Given the description of an element on the screen output the (x, y) to click on. 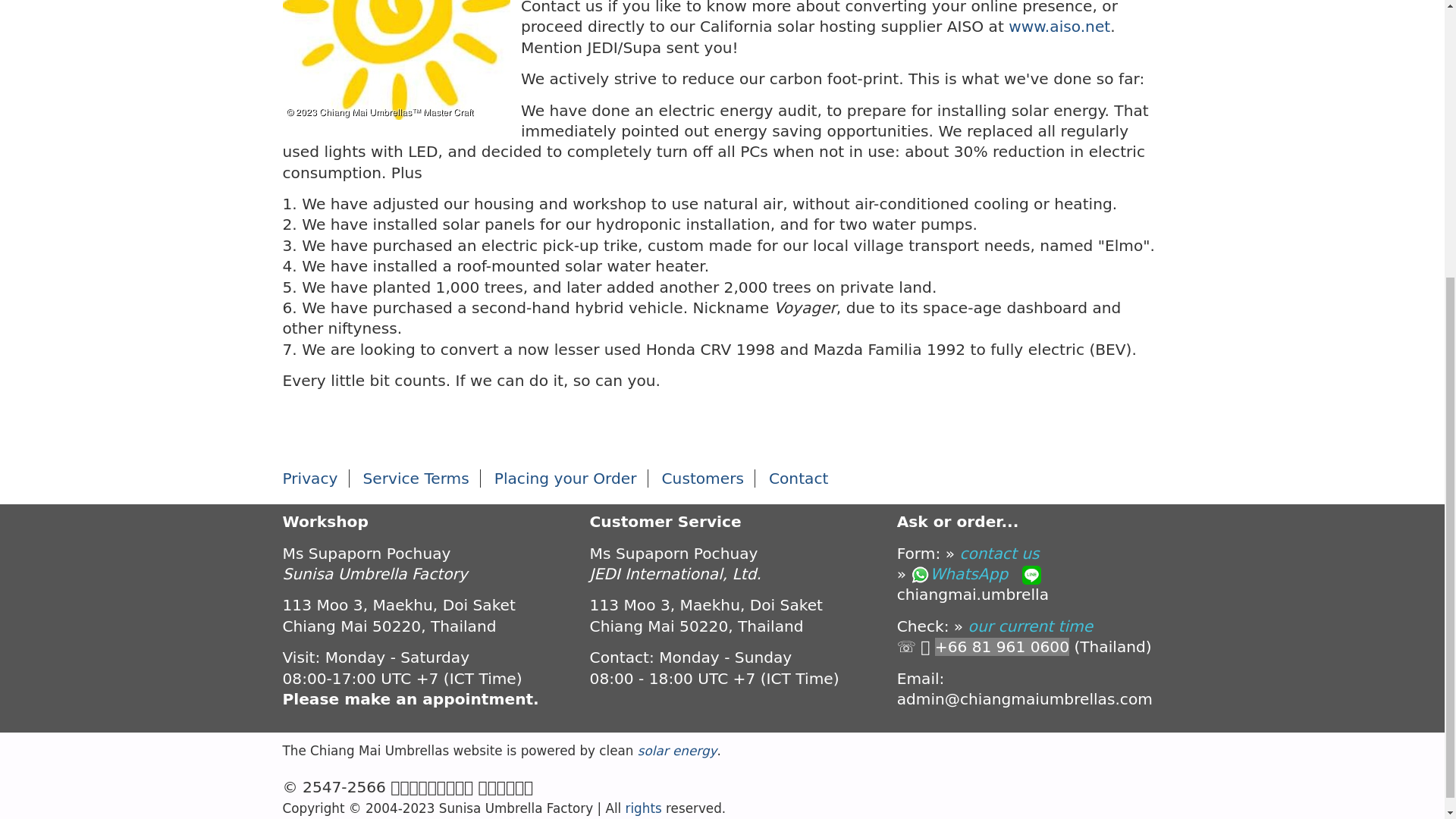
www.aiso.net (1059, 26)
Privacy (309, 478)
